Given the description of an element on the screen output the (x, y) to click on. 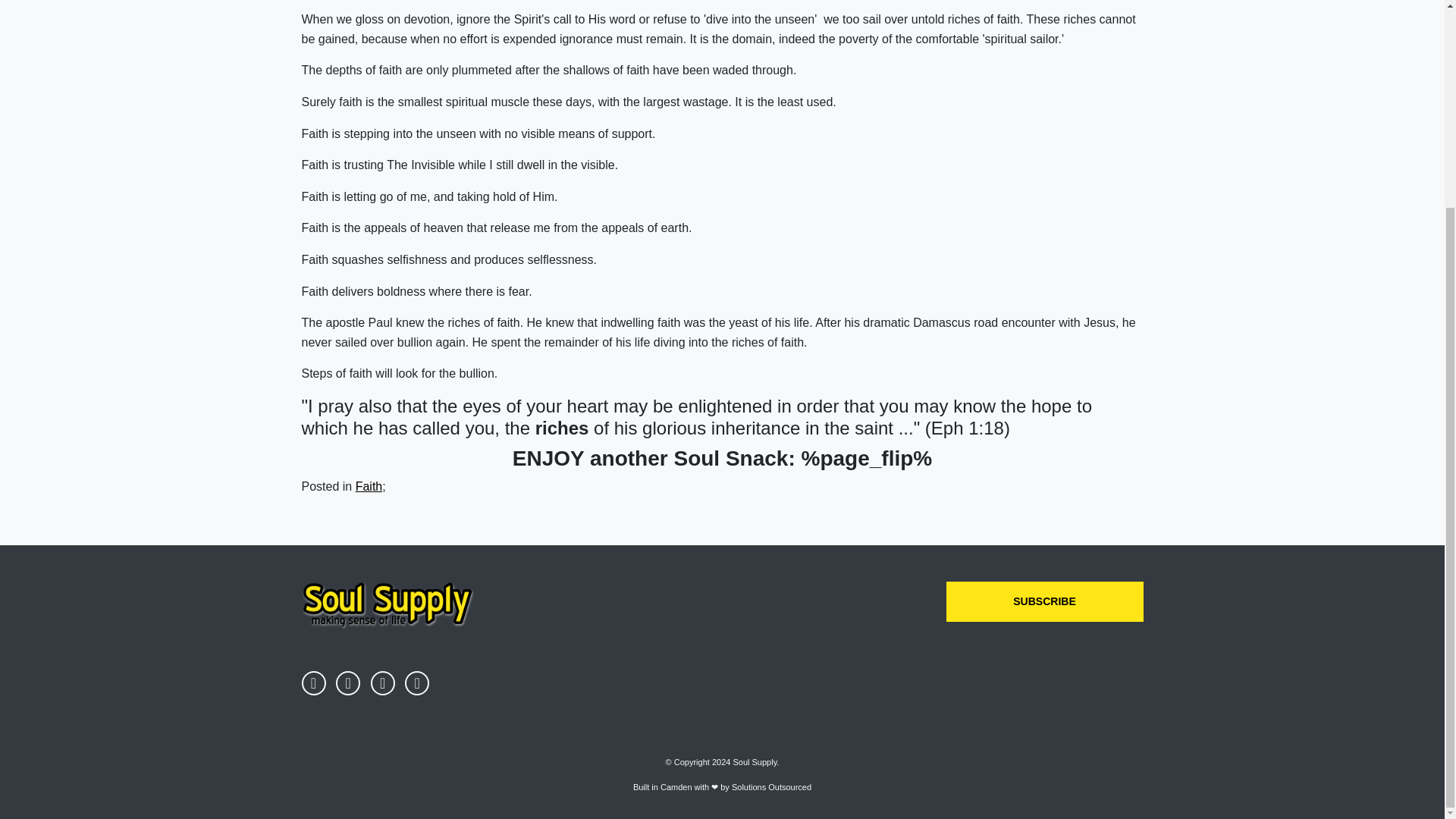
Faith (368, 486)
